Given the description of an element on the screen output the (x, y) to click on. 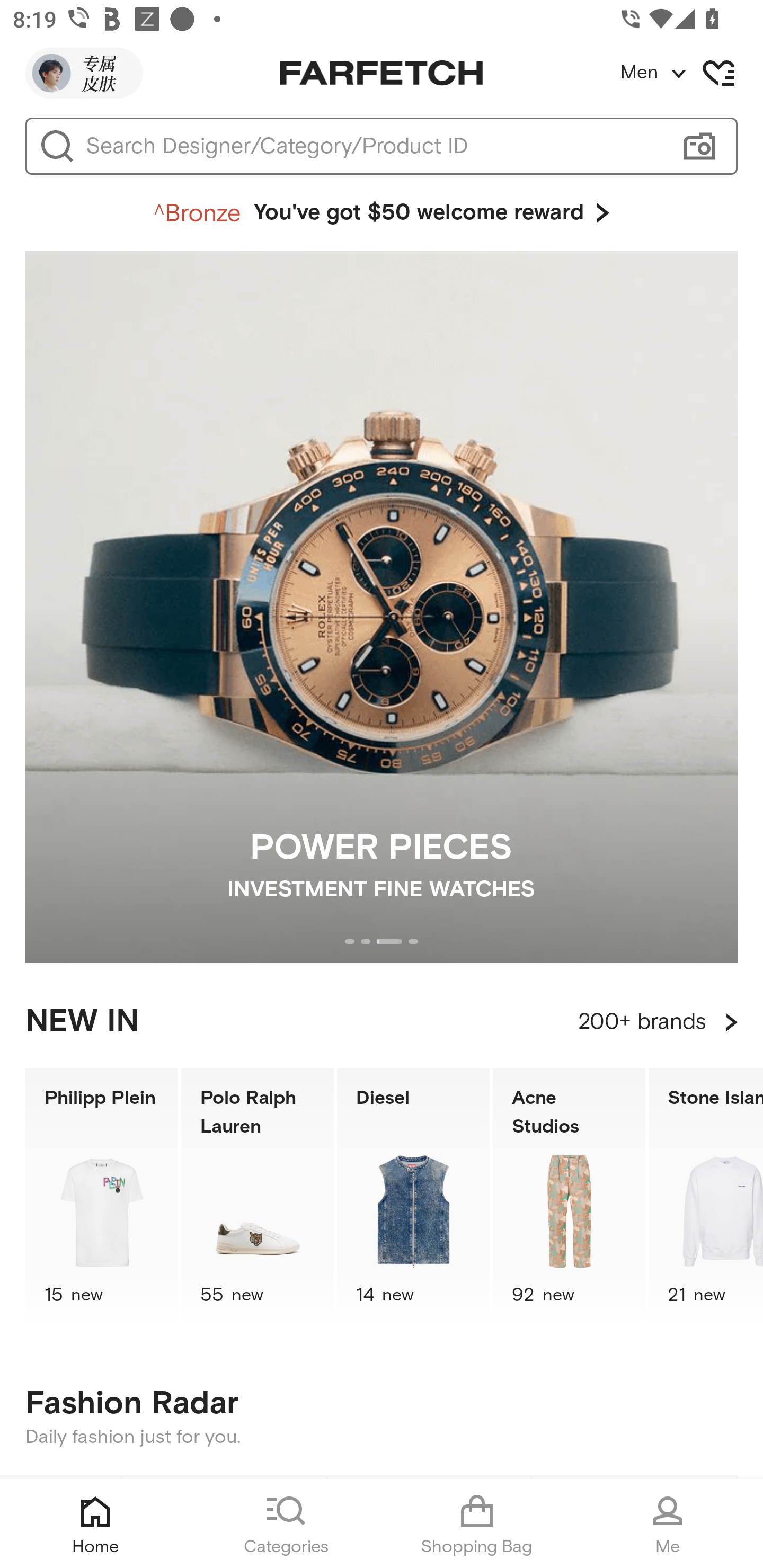
Men (691, 72)
Search Designer/Category/Product ID (373, 146)
You've got $50 welcome reward (381, 213)
NEW IN 200+ brands (381, 1021)
Philipp Plein 15  new (101, 1196)
Polo Ralph Lauren 55  new (257, 1196)
Diesel 14  new (413, 1196)
Acne Studios 92  new (568, 1196)
Stone Island 21  new (705, 1196)
Categories (285, 1523)
Shopping Bag (476, 1523)
Me (667, 1523)
